Given the description of an element on the screen output the (x, y) to click on. 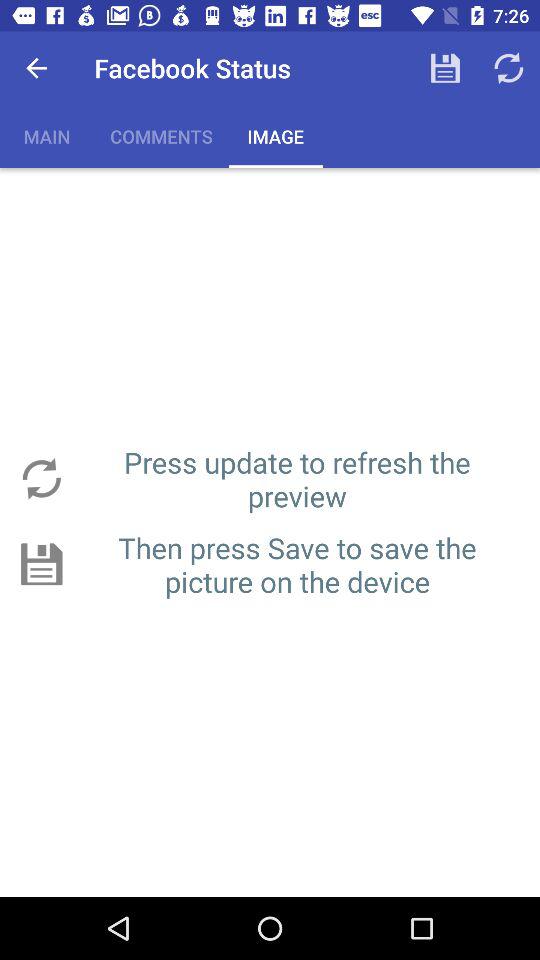
turn off icon next to the facebook status icon (36, 68)
